Given the description of an element on the screen output the (x, y) to click on. 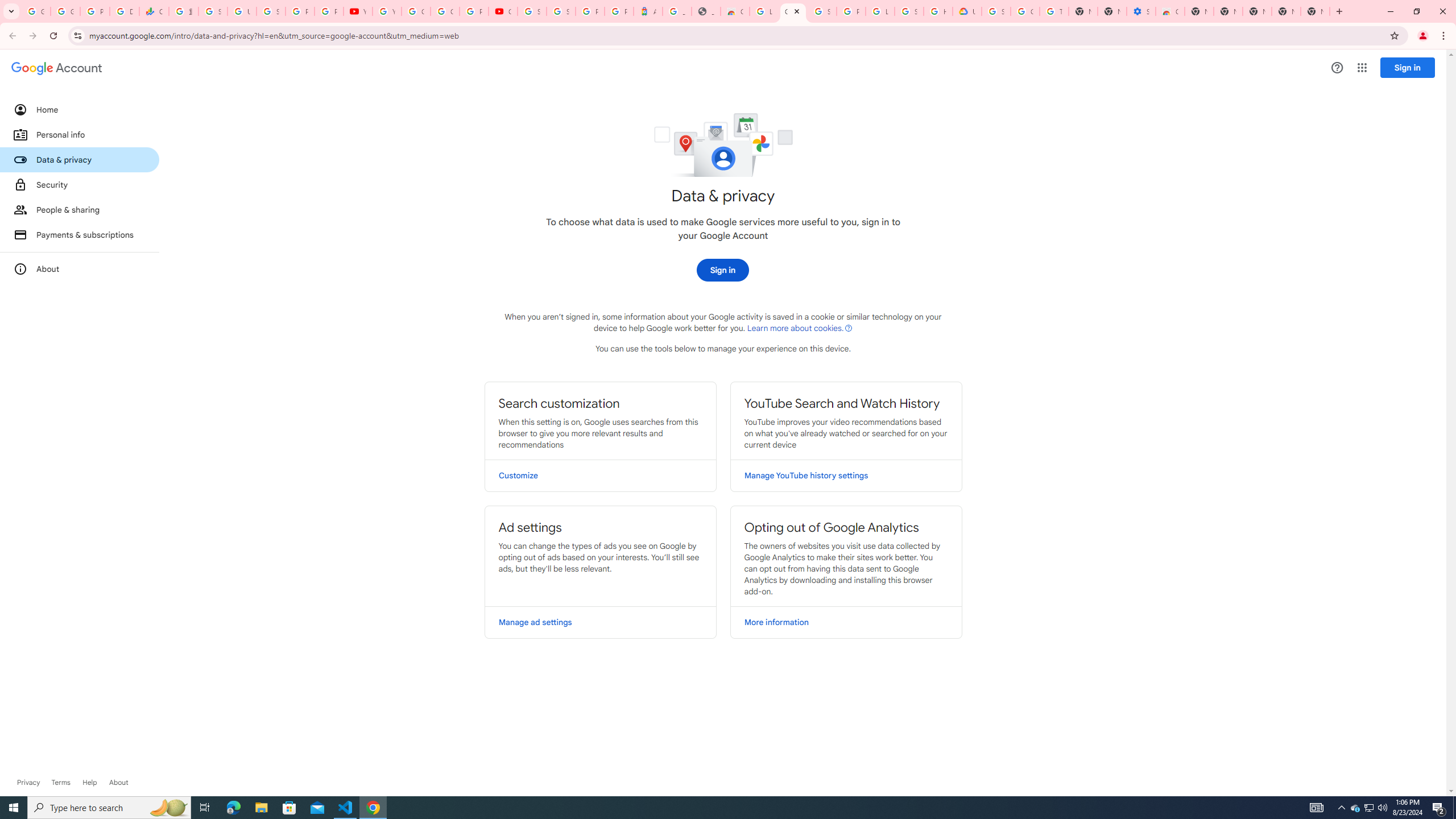
Payments & subscriptions (79, 234)
Sign in - Google Accounts (908, 11)
More information about the Google Account (79, 268)
Turn cookies on or off - Computer - Google Account Help (1054, 11)
Chrome Web Store - Household (734, 11)
Google Account Help (415, 11)
Customize (600, 475)
